Given the description of an element on the screen output the (x, y) to click on. 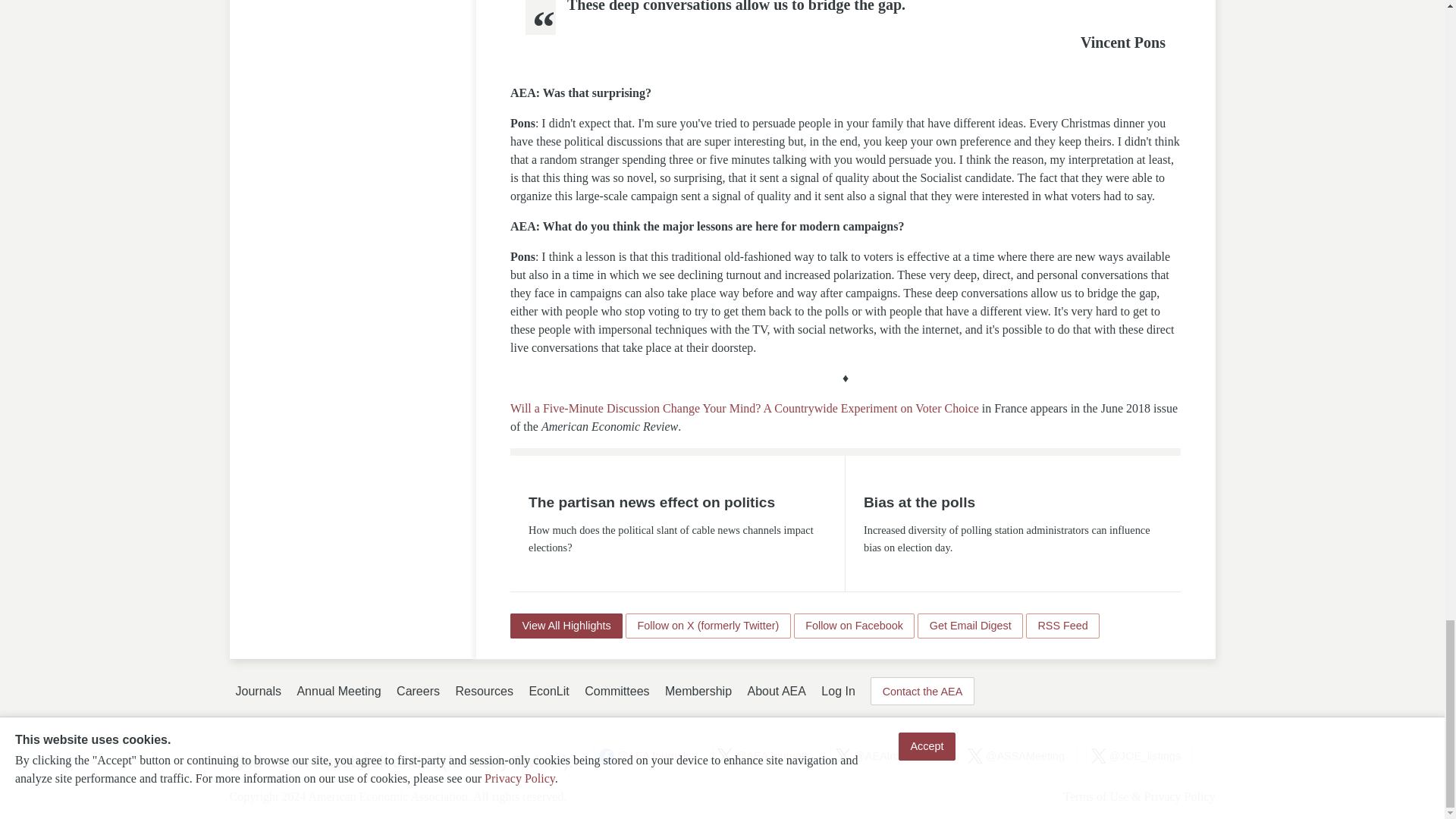
Get Email Digest (970, 625)
Bias at the polls (919, 502)
Follow on Facebook (854, 625)
View All Highlights (567, 625)
The partisan news effect on politics (651, 502)
RSS Feed (1062, 625)
